Given the description of an element on the screen output the (x, y) to click on. 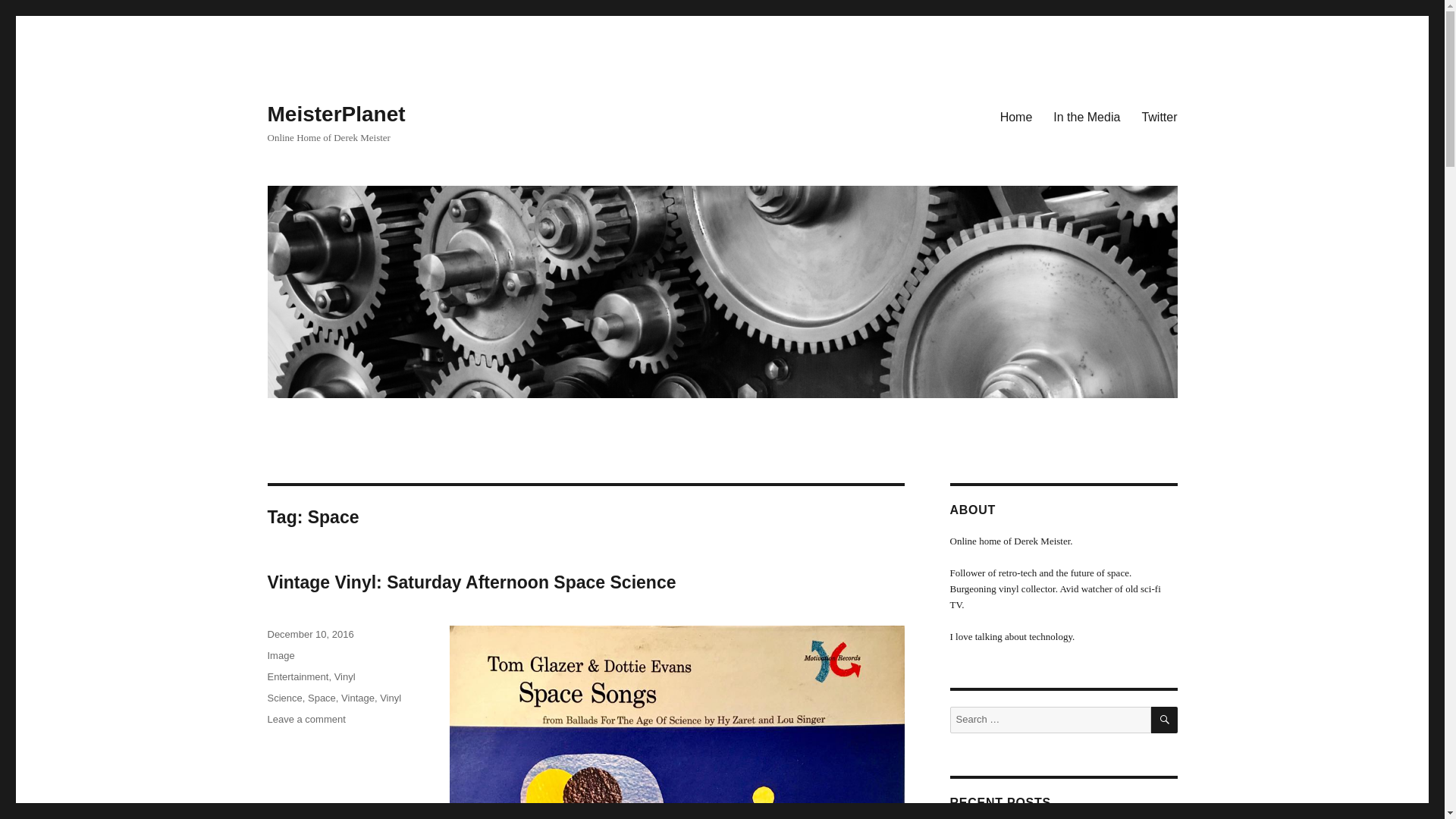
Twitter (1159, 116)
December 10, 2016 (309, 633)
Vintage (357, 697)
Image (280, 655)
In the Media (1086, 116)
Science (283, 697)
Vinyl (344, 676)
Space (321, 697)
Home (1016, 116)
MeisterPlanet (335, 114)
Vinyl (390, 697)
Vintage Vinyl: Saturday Afternoon Space Science (470, 582)
Entertainment (297, 676)
